Given the description of an element on the screen output the (x, y) to click on. 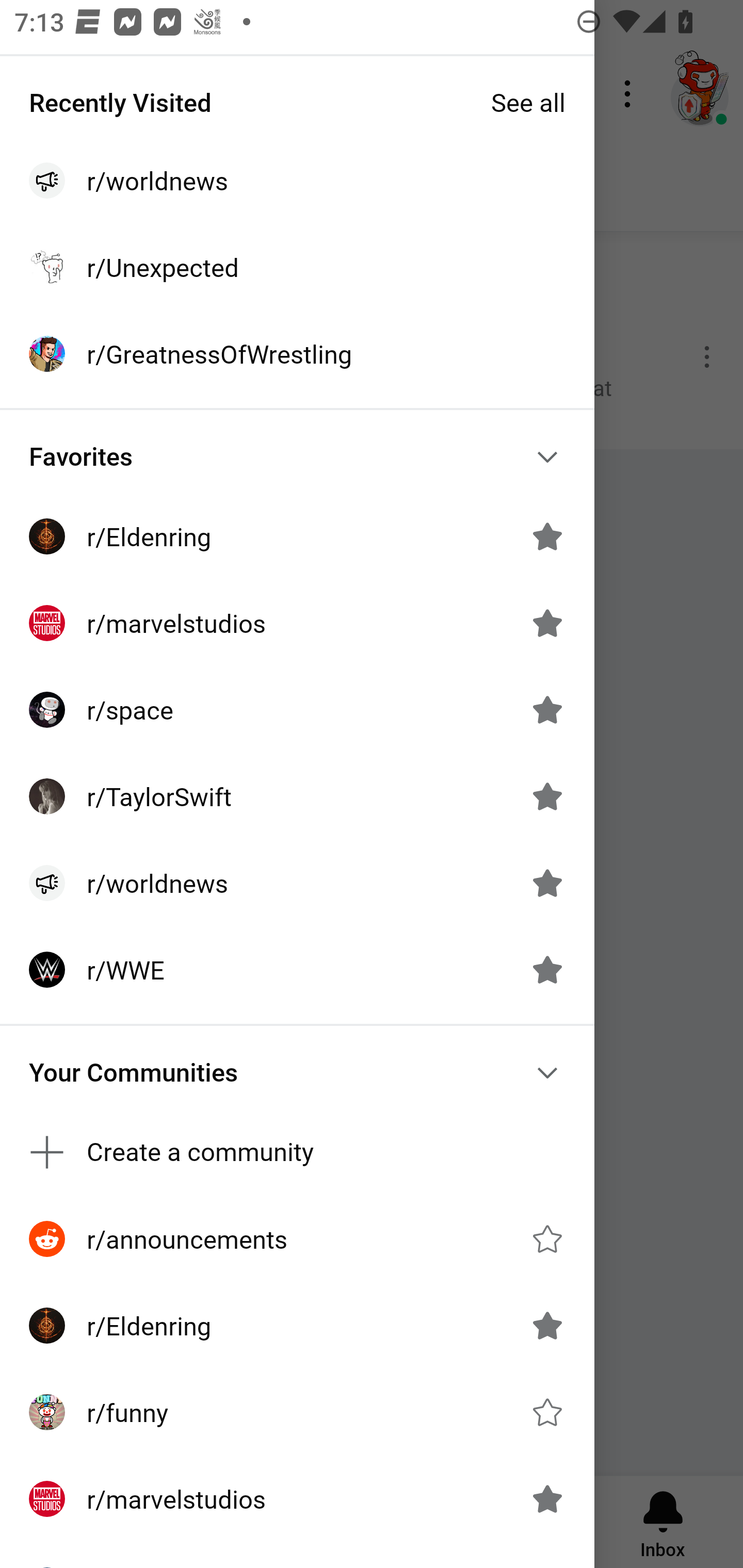
Recently Visited See all (297, 102)
See all (528, 102)
r/worldnews (297, 180)
r/Unexpected (297, 267)
r/GreatnessOfWrestling (297, 353)
Favorites (297, 456)
r/Eldenring Unfavorite r/Eldenring (297, 536)
Unfavorite r/Eldenring (546, 536)
r/marvelstudios Unfavorite r/marvelstudios (297, 623)
Unfavorite r/marvelstudios (546, 623)
r/space Unfavorite r/space (297, 709)
Unfavorite r/space (546, 709)
r/TaylorSwift Unfavorite r/TaylorSwift (297, 796)
Unfavorite r/TaylorSwift (546, 796)
r/worldnews Unfavorite r/worldnews (297, 883)
Unfavorite r/worldnews (546, 882)
r/WWE Unfavorite r/WWE (297, 969)
Unfavorite r/WWE (546, 969)
Your Communities (297, 1072)
Create a community (297, 1151)
r/announcements Favorite r/announcements (297, 1238)
Favorite r/announcements (546, 1238)
r/Eldenring Unfavorite r/Eldenring (297, 1325)
Unfavorite r/Eldenring (546, 1325)
r/funny Favorite r/funny (297, 1411)
Favorite r/funny (546, 1411)
r/marvelstudios Unfavorite r/marvelstudios (297, 1498)
Unfavorite r/marvelstudios (546, 1498)
